Given the description of an element on the screen output the (x, y) to click on. 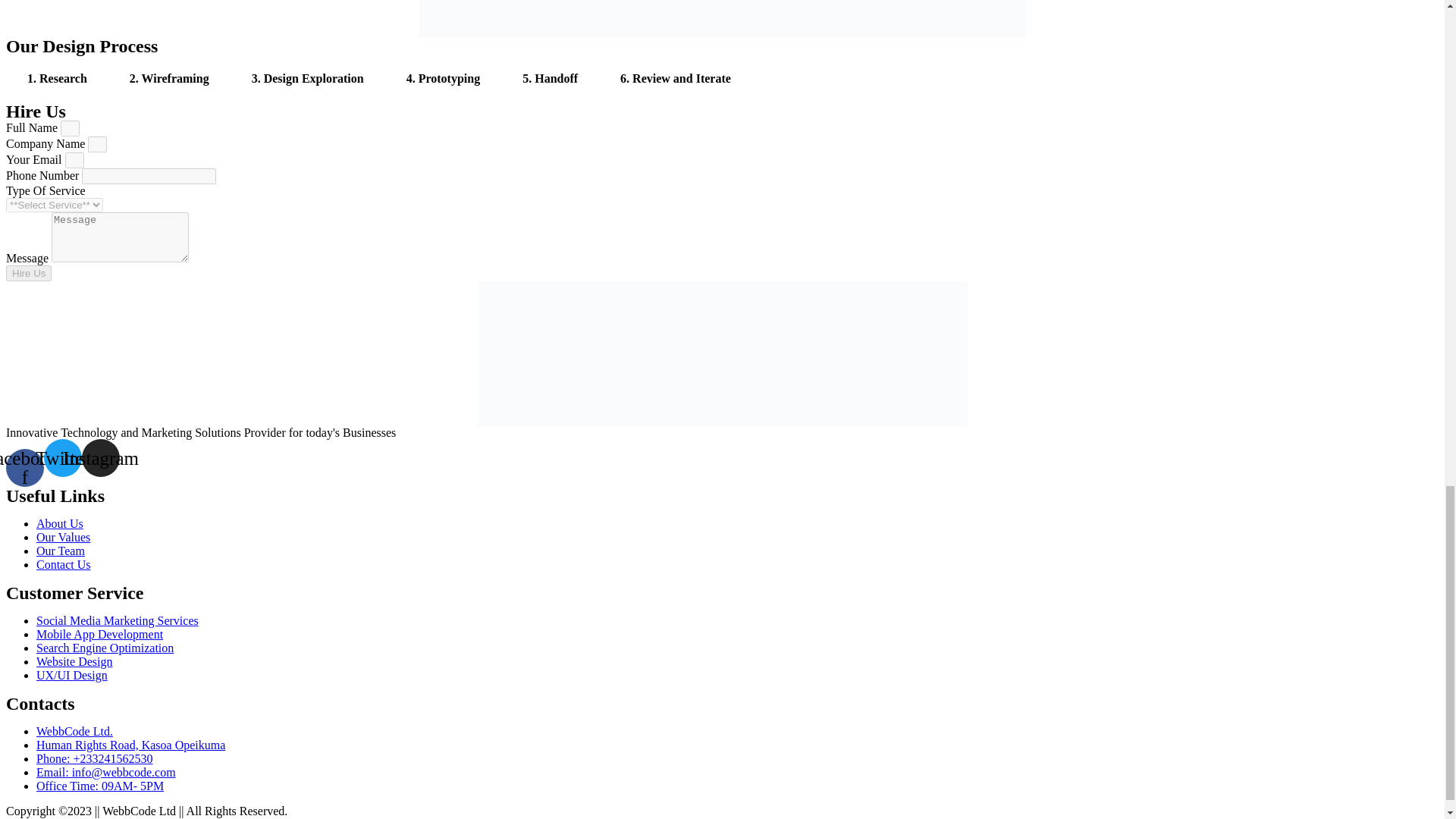
Social Media Marketing Services (117, 619)
Contact Us (63, 563)
WebbCode Ltd. (74, 730)
Our Values (63, 535)
Search Engine Optimization (104, 646)
Human Rights Road, Kasoa Opeikuma (130, 744)
Our Team (60, 549)
Facebook-f (24, 466)
Twitter (62, 457)
Website Design (74, 660)
